Given the description of an element on the screen output the (x, y) to click on. 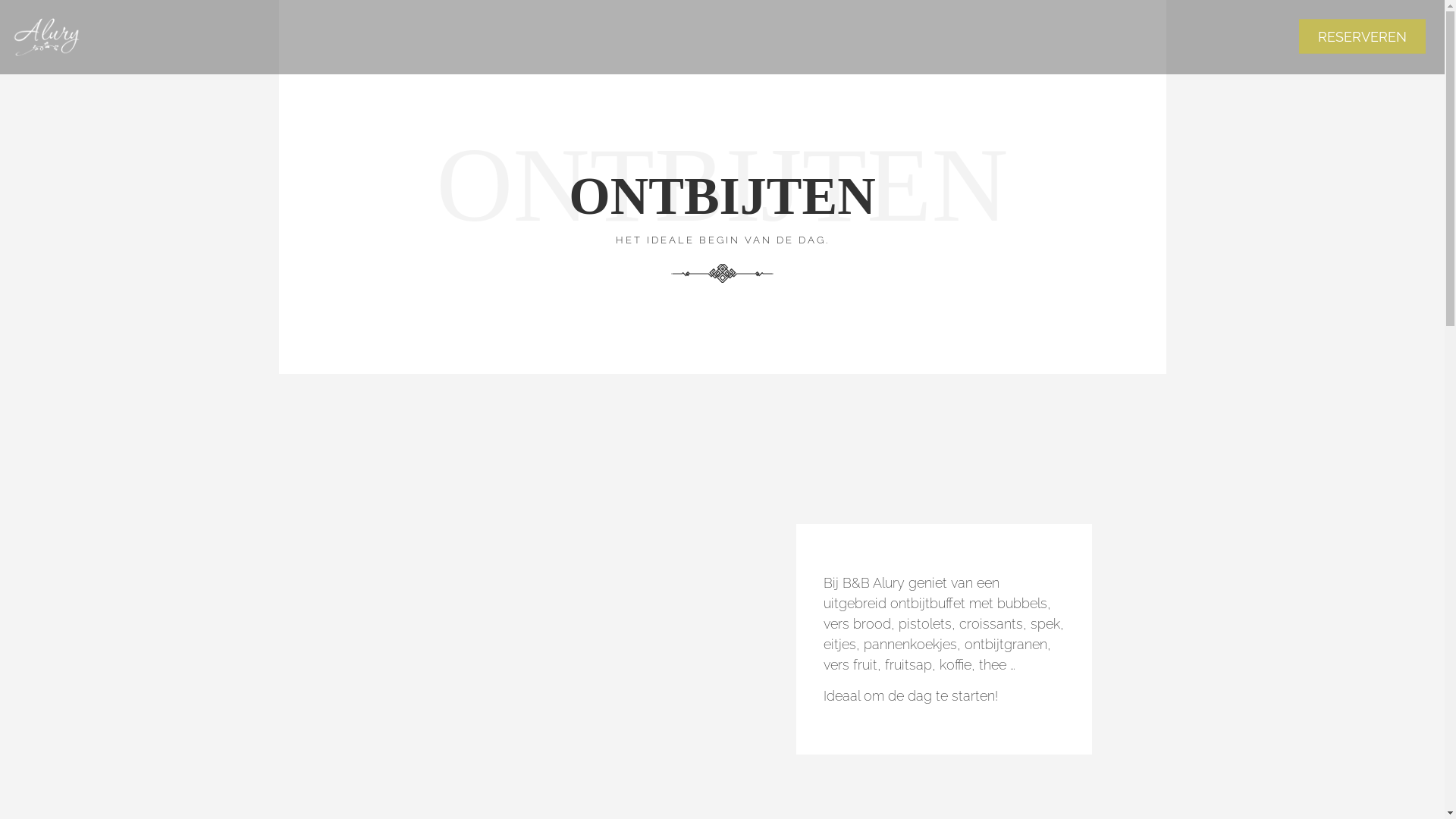
RESERVEREN Element type: text (1362, 35)
